Given the description of an element on the screen output the (x, y) to click on. 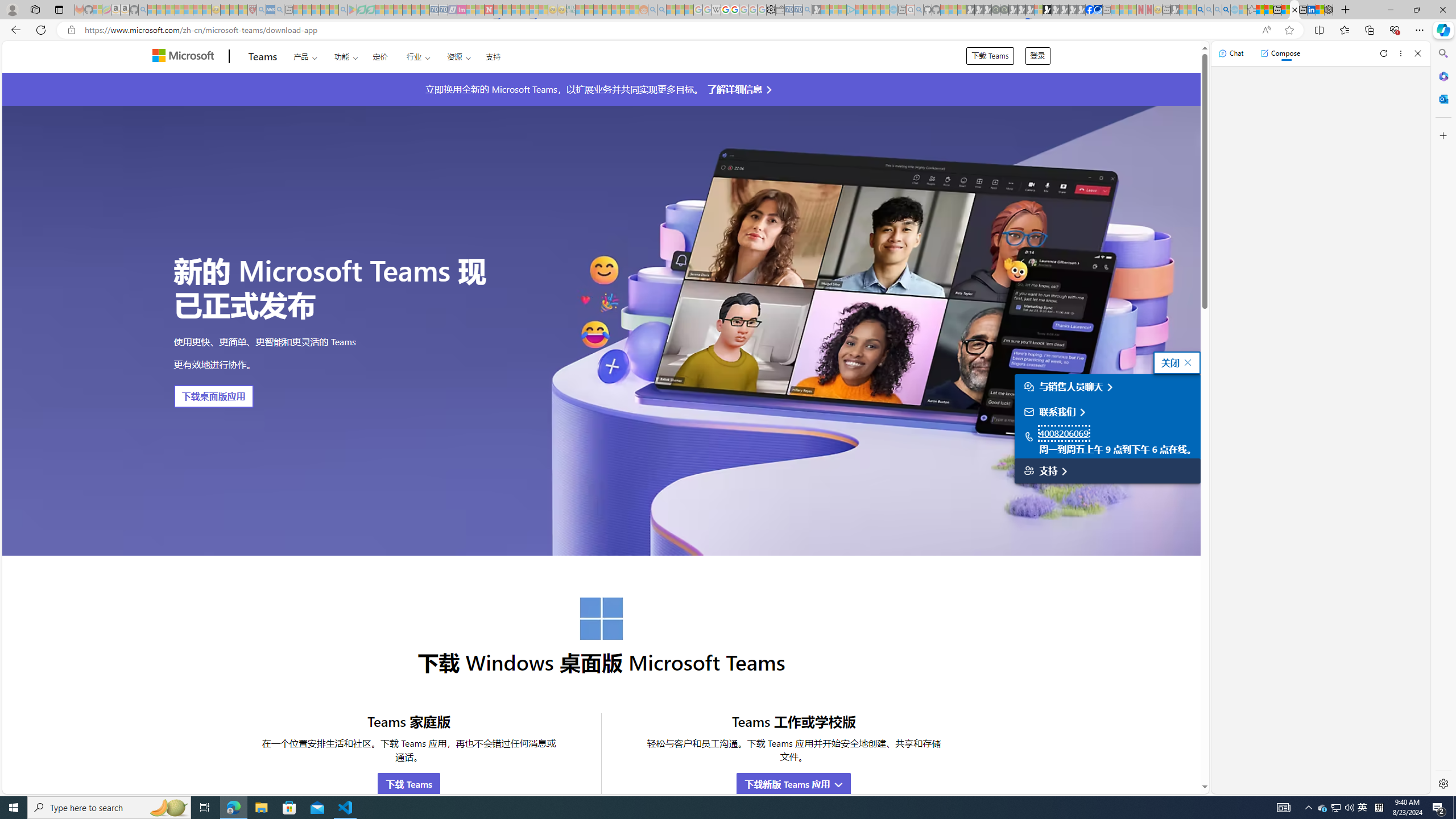
Nordace | Facebook (1089, 9)
